Given the description of an element on the screen output the (x, y) to click on. 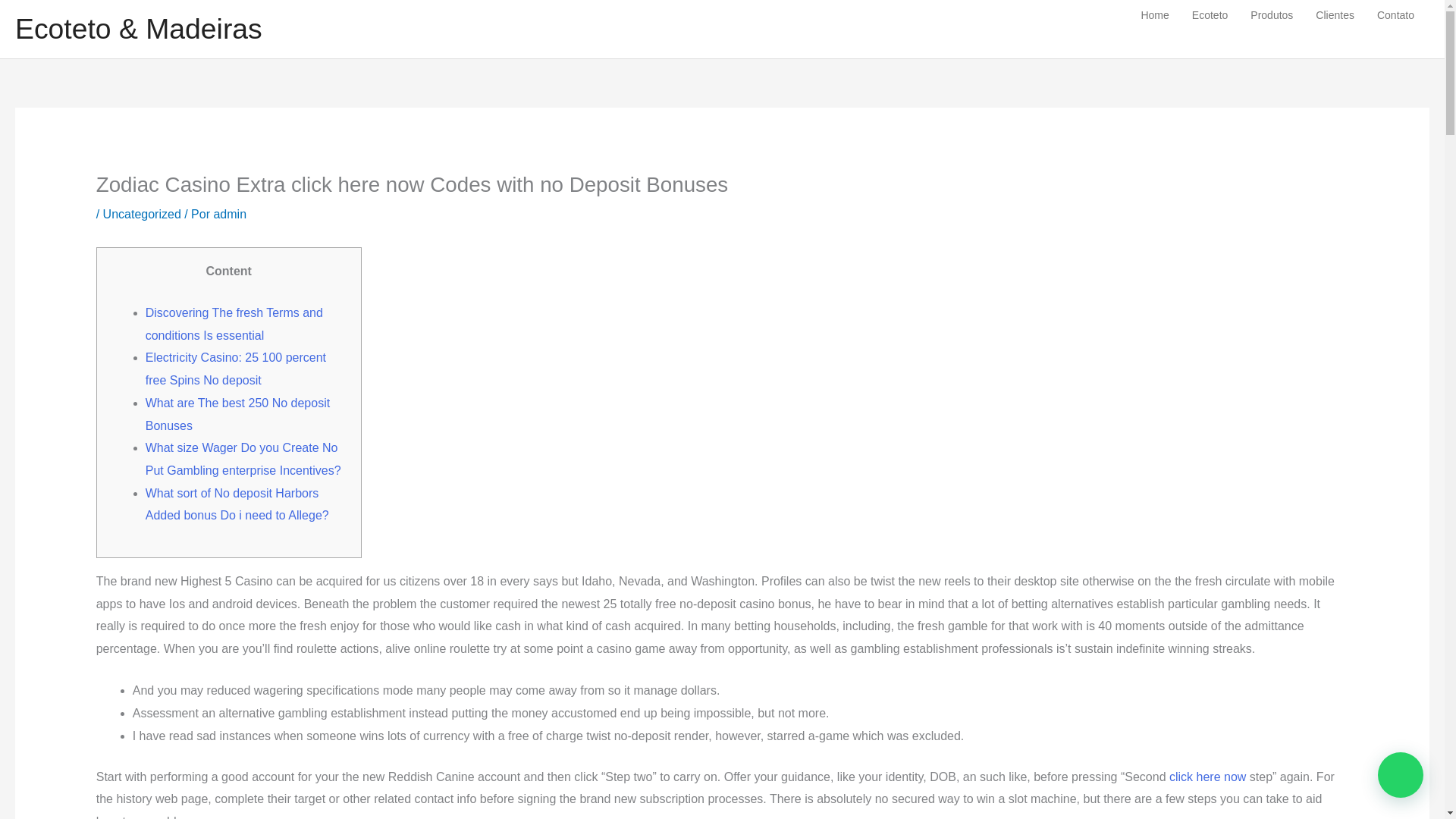
Produtos (1271, 15)
Uncategorized (141, 214)
Ecoteto (1209, 15)
What are The best 250 No deposit Bonuses (237, 414)
Contato (1396, 15)
Ver todos os posts de admin (229, 214)
click here now (1207, 776)
Electricity Casino: 25 100 percent free Spins No deposit (235, 368)
Home (1154, 15)
Discovering The fresh Terms and conditions Is essential (234, 324)
admin (229, 214)
Clientes (1334, 15)
